Given the description of an element on the screen output the (x, y) to click on. 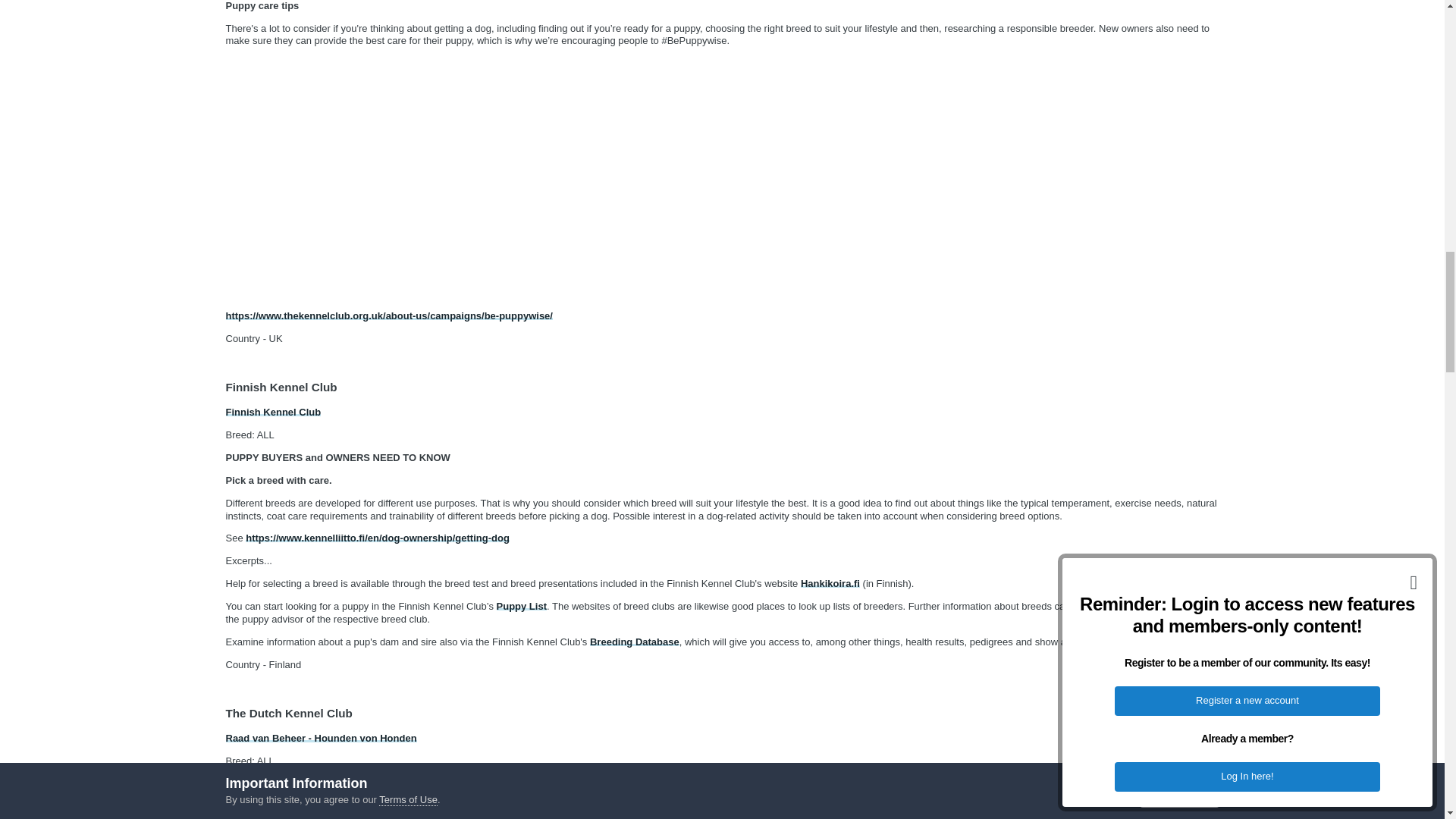
YouTube video player (437, 176)
